Given the description of an element on the screen output the (x, y) to click on. 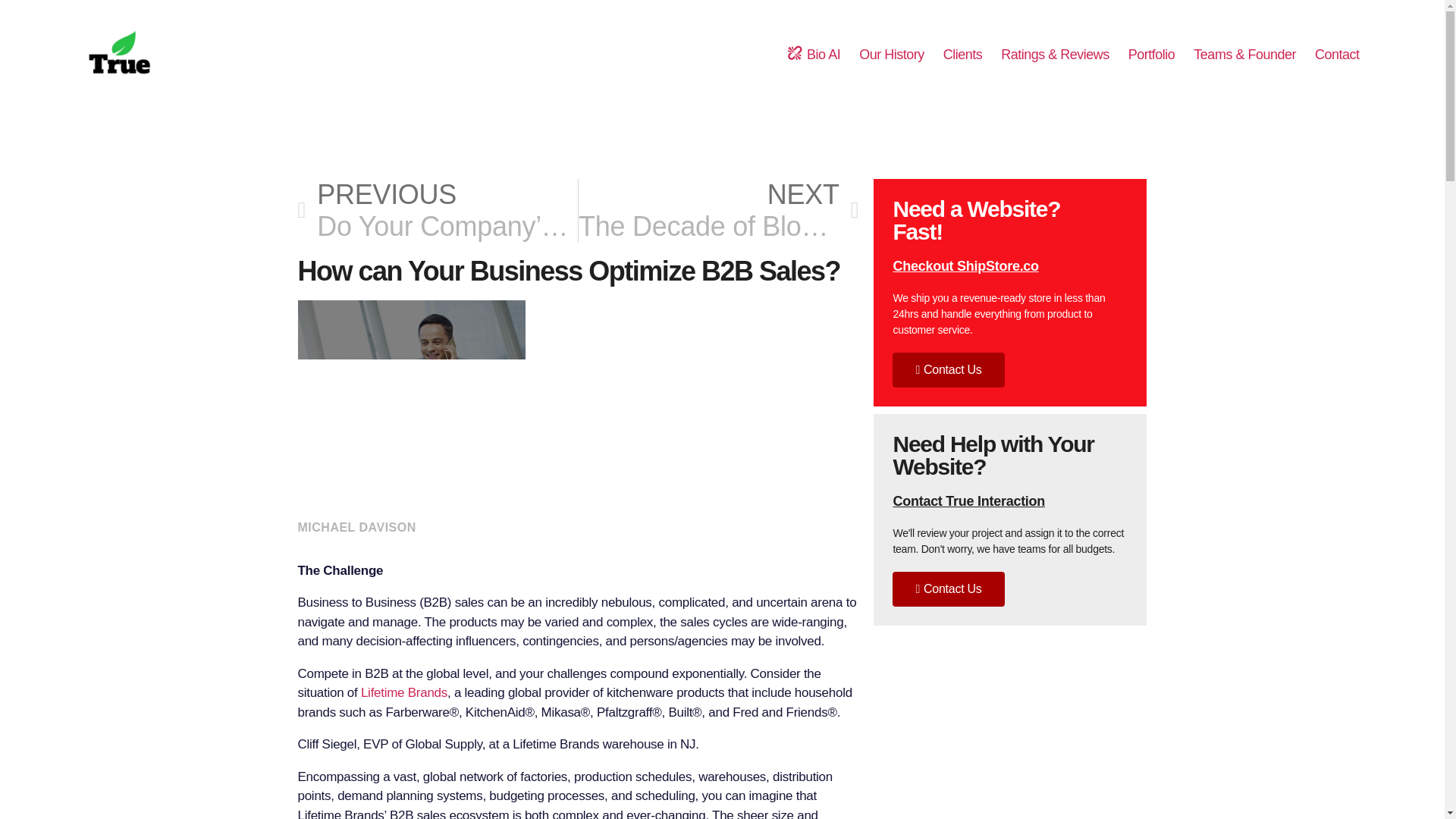
Portfolio (1151, 54)
Our History (718, 210)
Contact (891, 54)
Lifetime Brands (1336, 54)
Contact Us (403, 692)
Contact True Interaction (948, 588)
Contact Us (968, 500)
Clients (948, 369)
Bio AI (962, 54)
